Given the description of an element on the screen output the (x, y) to click on. 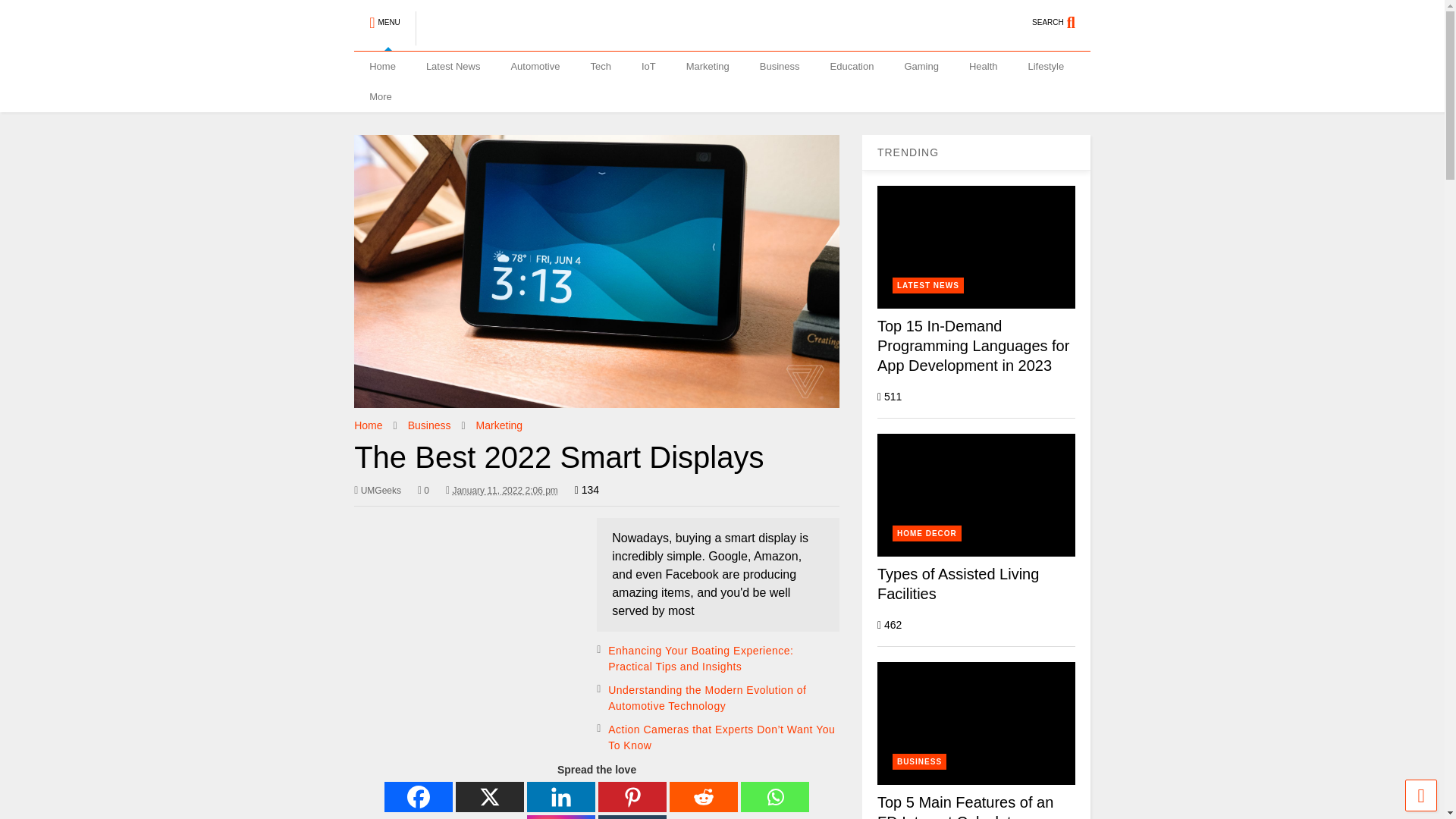
January 11, 2022 2:06 pm (504, 490)
Latest News (453, 66)
Tech (600, 66)
January 11, 2022 2:06 pm (501, 490)
Business (779, 66)
Linkedin (561, 797)
IoT (648, 66)
UMGeeks (506, 38)
Marketing (707, 66)
